Given the description of an element on the screen output the (x, y) to click on. 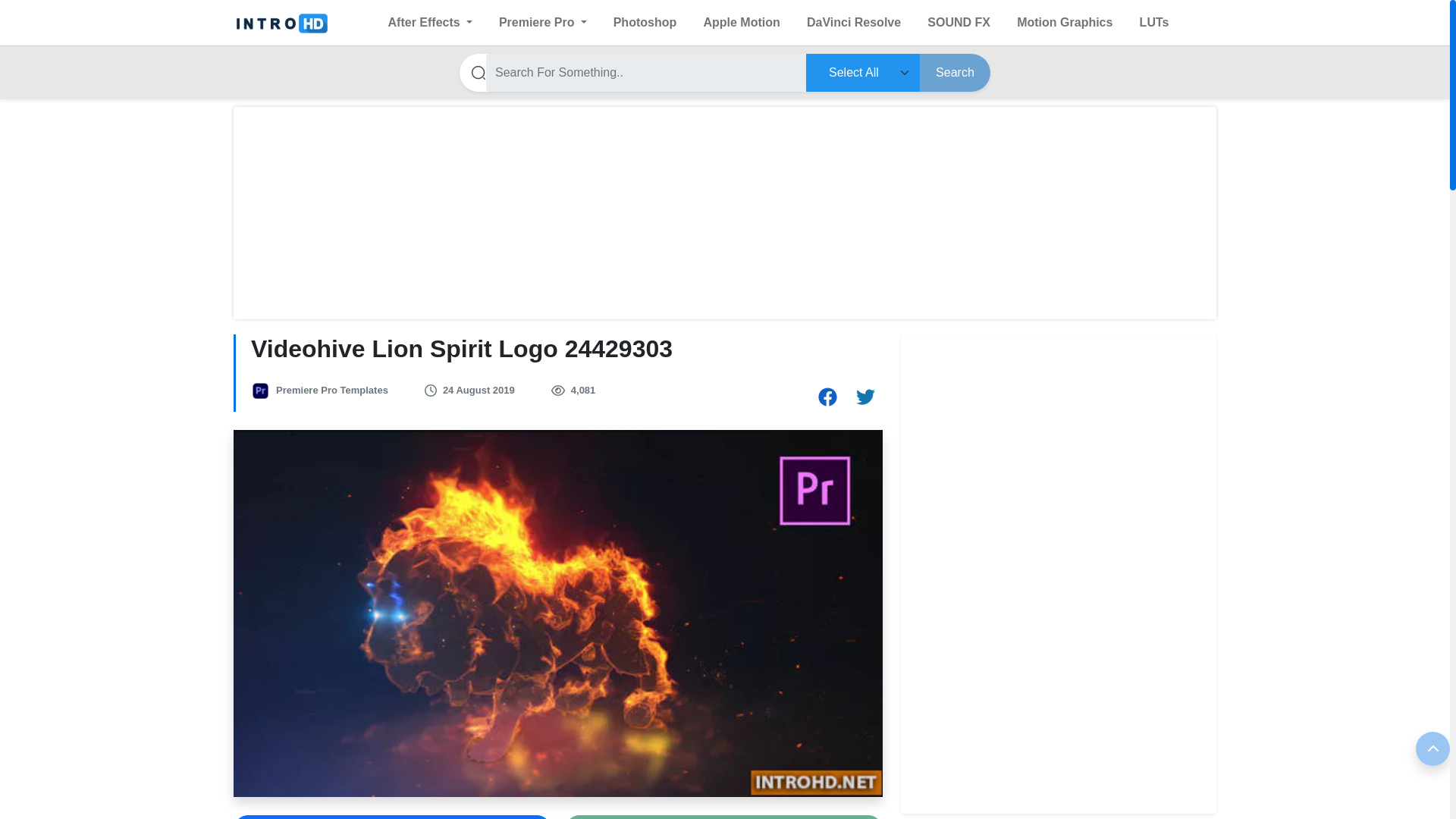
Premiere Pro Templates (332, 390)
LUTs (1154, 22)
After Effects (429, 22)
Motion Graphics (1064, 22)
Apple Motion (740, 22)
Premiere Pro Templates (332, 390)
Search (955, 72)
Download Now (723, 816)
DaVinci Resolve (853, 22)
Premiere Pro (542, 22)
SOUND FX (958, 22)
Photoshop (644, 22)
